Given the description of an element on the screen output the (x, y) to click on. 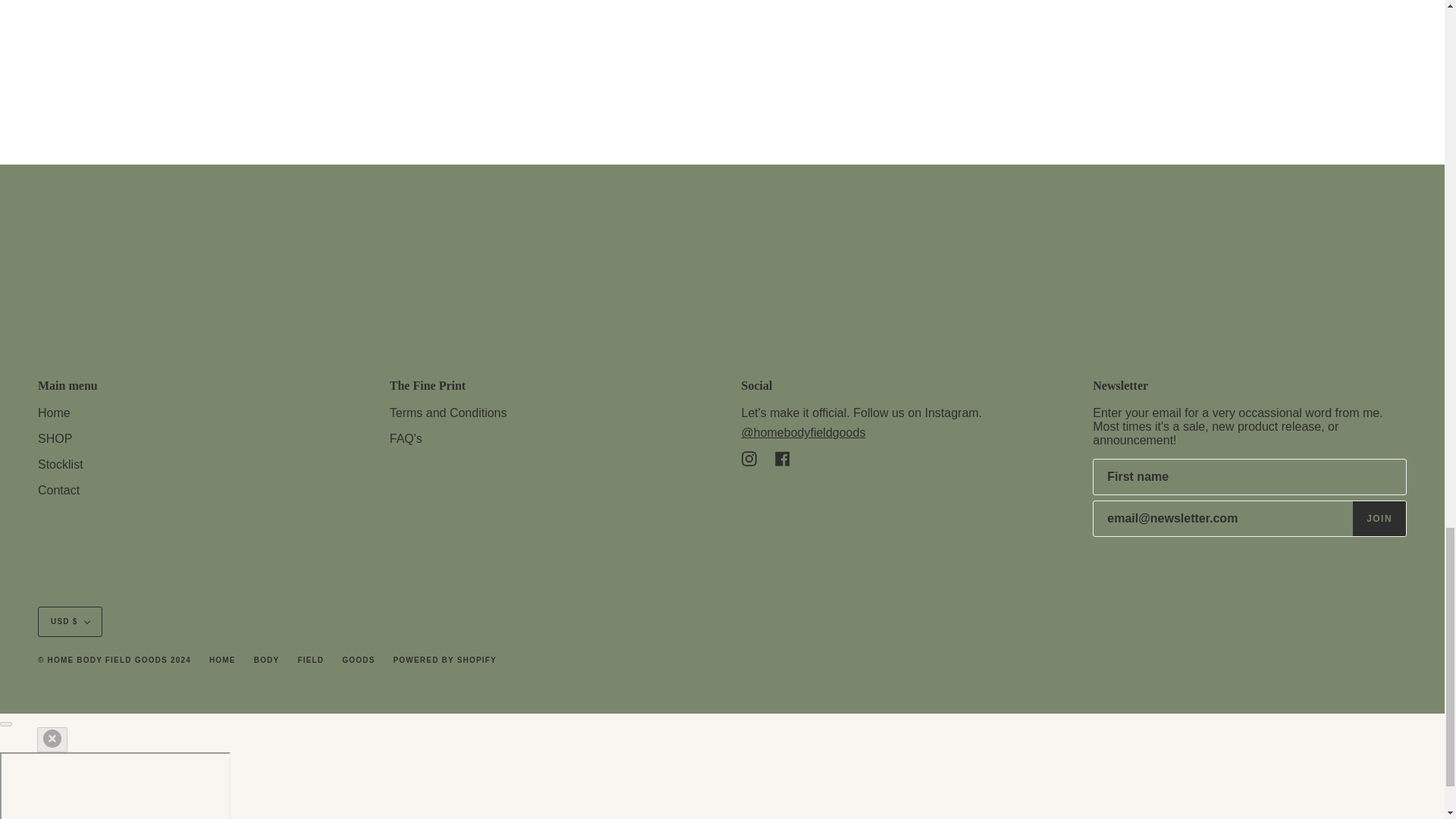
Home Body Field Goods on Facebook (782, 458)
Home Body Field Goods on Instagram (749, 458)
